Given the description of an element on the screen output the (x, y) to click on. 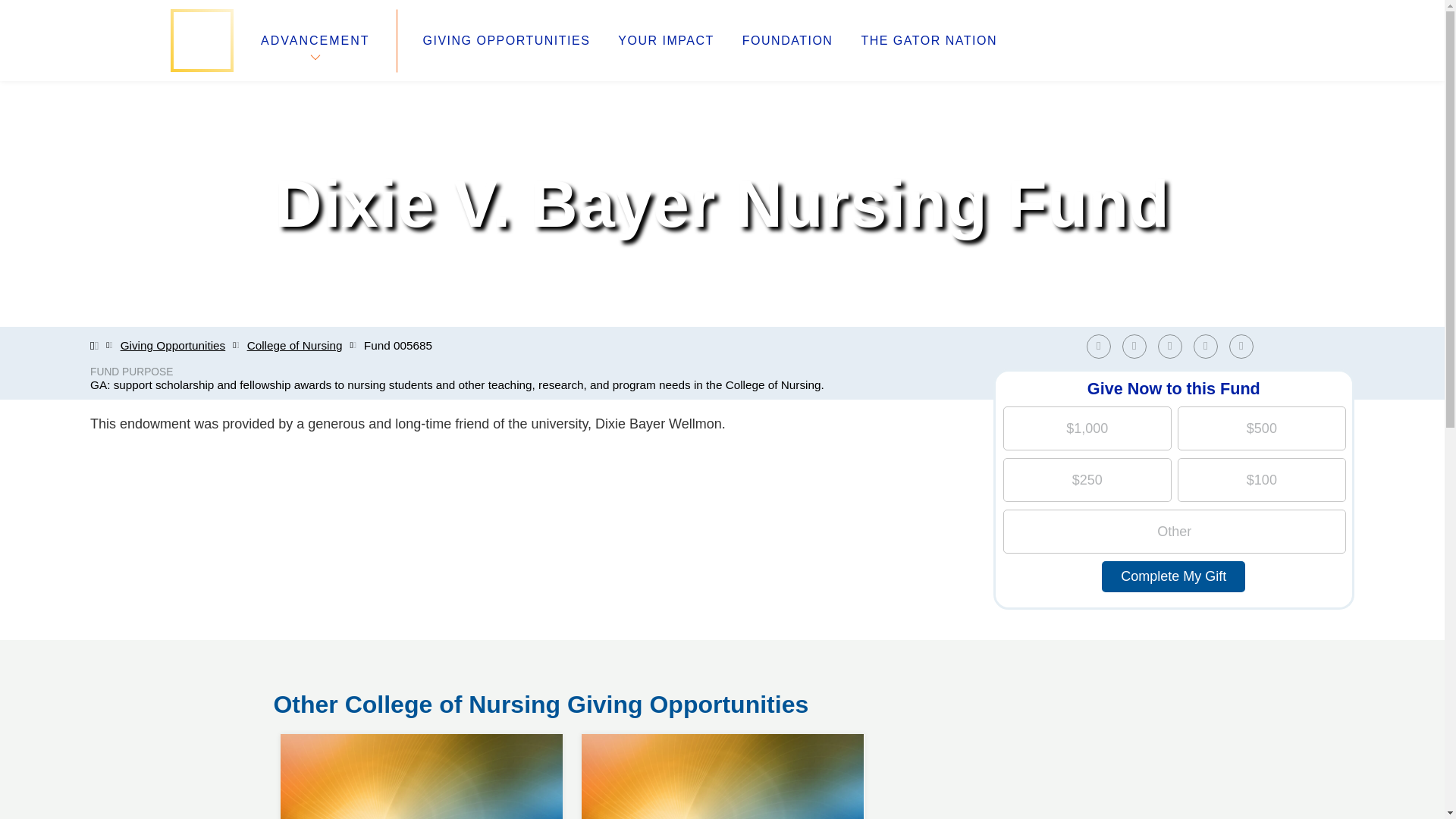
Share on Twitter (1134, 346)
Share on Reddit (1209, 345)
College of Nursing (294, 345)
YOUR IMPACT (665, 40)
Complete My Gift (1173, 576)
GIVING OPPORTUNITIES (421, 734)
Share on LinkedIn (507, 40)
Share on LinkedIn (1173, 345)
Share on Facebook (1169, 346)
Share by Email (1098, 346)
Share by Email (1244, 345)
Giving Opportunities (1240, 346)
ADVANCEMENT (172, 345)
